Given the description of an element on the screen output the (x, y) to click on. 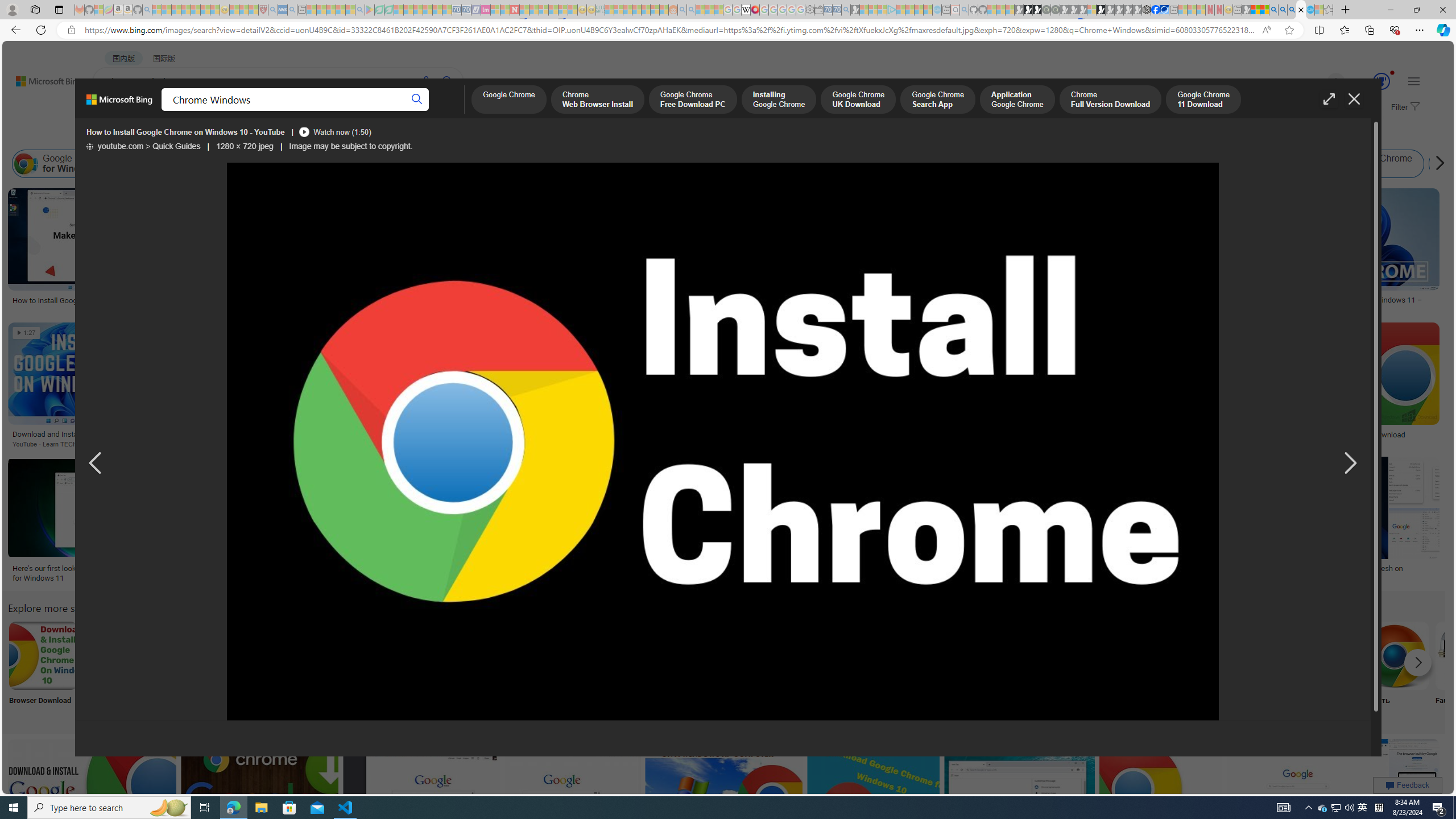
Chrome Windows - Search Images (1300, 9)
People (295, 135)
Chromebook Accessories (877, 227)
Search using voice (426, 80)
How to Install Google Chrome on Windows 10 - YouTube (722, 441)
Chrome Free Download Free Download (1169, 669)
Acer Chromebooks (877, 296)
Chrome Download for PC (794, 654)
